Given the description of an element on the screen output the (x, y) to click on. 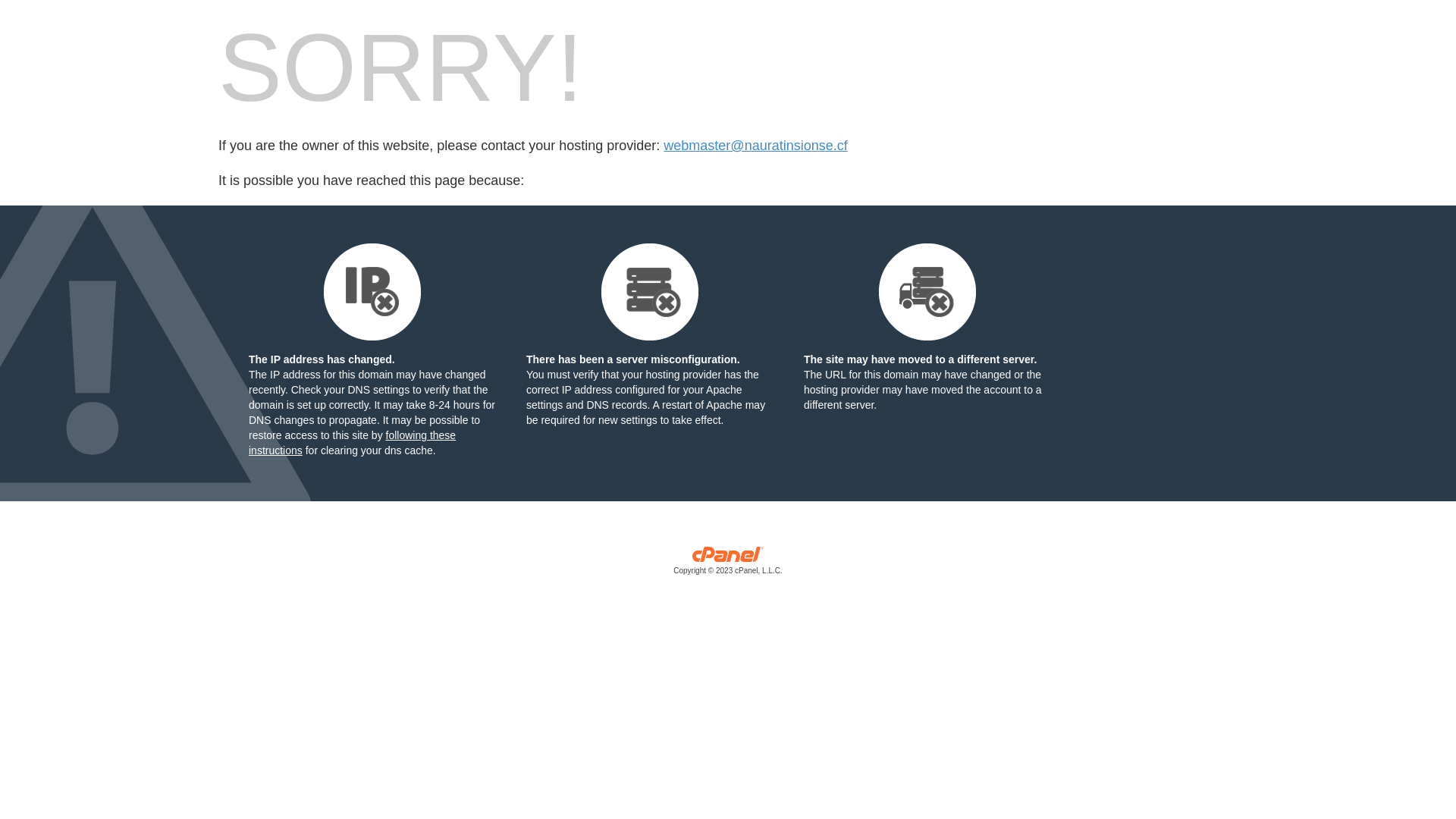
webmaster@nauratinsionse.cf Element type: text (755, 145)
following these instructions Element type: text (351, 442)
